Given the description of an element on the screen output the (x, y) to click on. 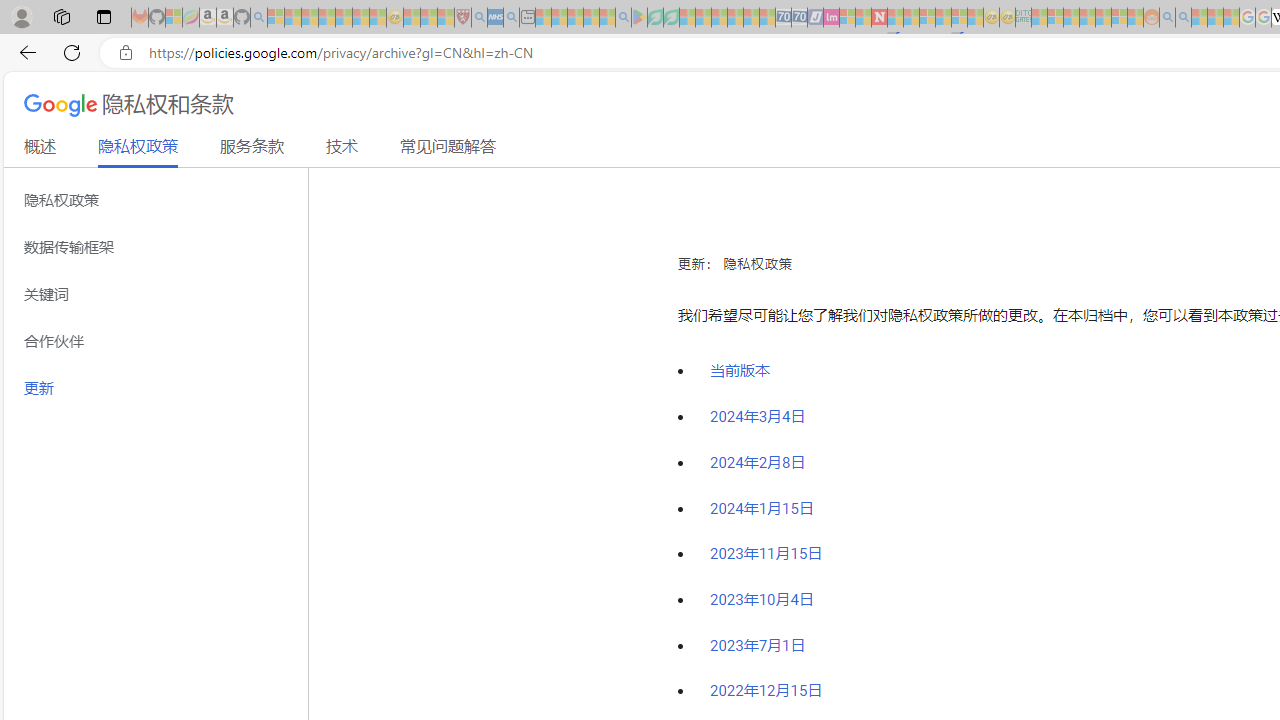
DITOGAMES AG Imprint - Sleeping (1023, 17)
Microsoft account | Privacy - Sleeping (1055, 17)
Terms of Use Agreement - Sleeping (655, 17)
Microsoft-Report a Concern to Bing - Sleeping (173, 17)
Robert H. Shmerling, MD - Harvard Health - Sleeping (462, 17)
14 Common Myths Debunked By Scientific Facts - Sleeping (911, 17)
Pets - MSN - Sleeping (591, 17)
New tab - Sleeping (527, 17)
google - Search - Sleeping (623, 17)
